Given the description of an element on the screen output the (x, y) to click on. 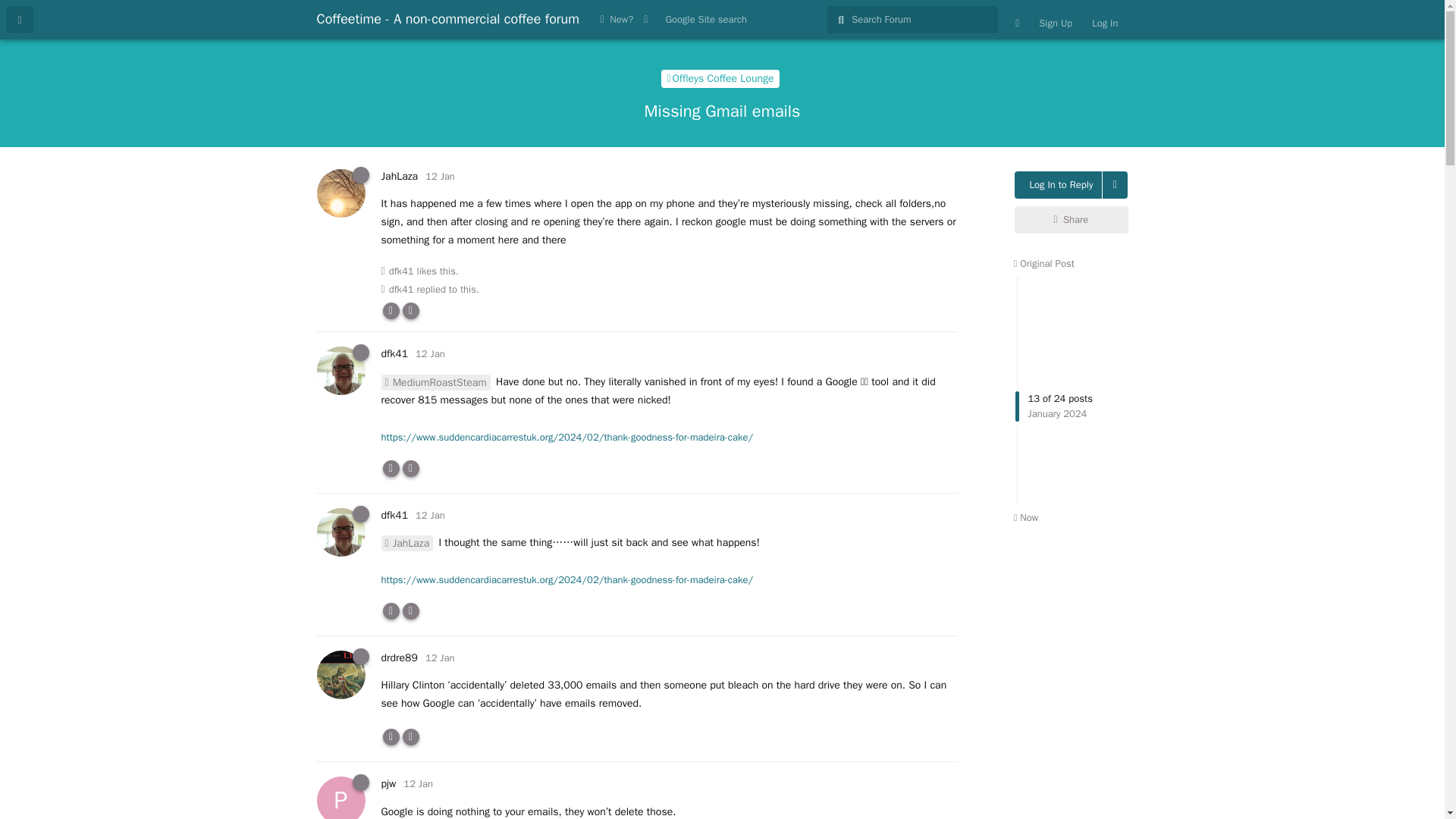
Coffeetime - A non-commercial coffee forum (448, 18)
Sign Up (1055, 22)
Original Post (1043, 263)
Friday, January 12, 2024 12:46 AM (439, 175)
dfk41 (393, 353)
Google Site search (705, 19)
JahLaza (398, 175)
Offleys Coffee Lounge (719, 78)
Now (1025, 517)
Log In to Reply (1058, 185)
